Given the description of an element on the screen output the (x, y) to click on. 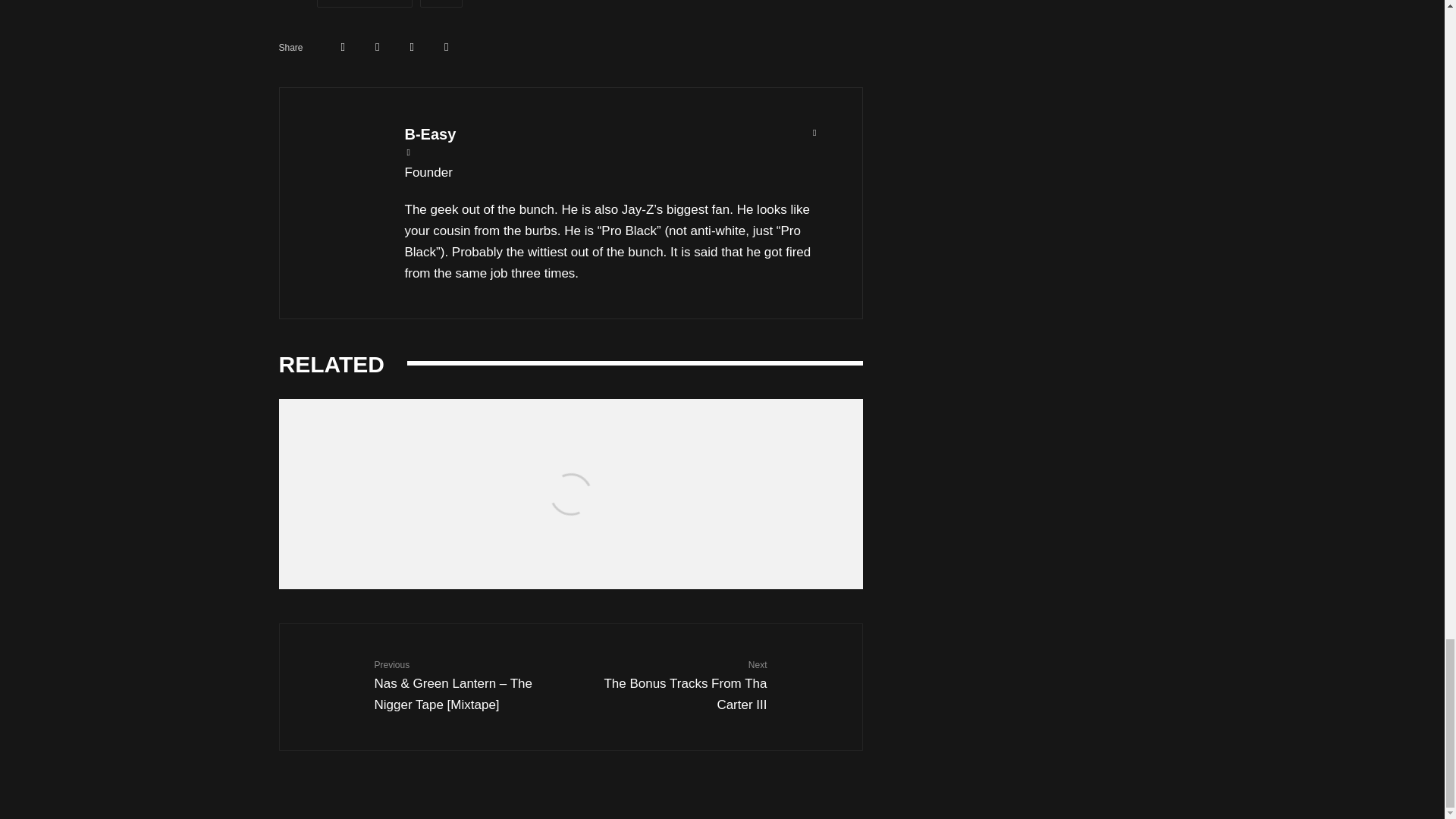
B-Easy (674, 684)
NO INTRODUCTION (614, 134)
TYGA (364, 3)
